Given the description of an element on the screen output the (x, y) to click on. 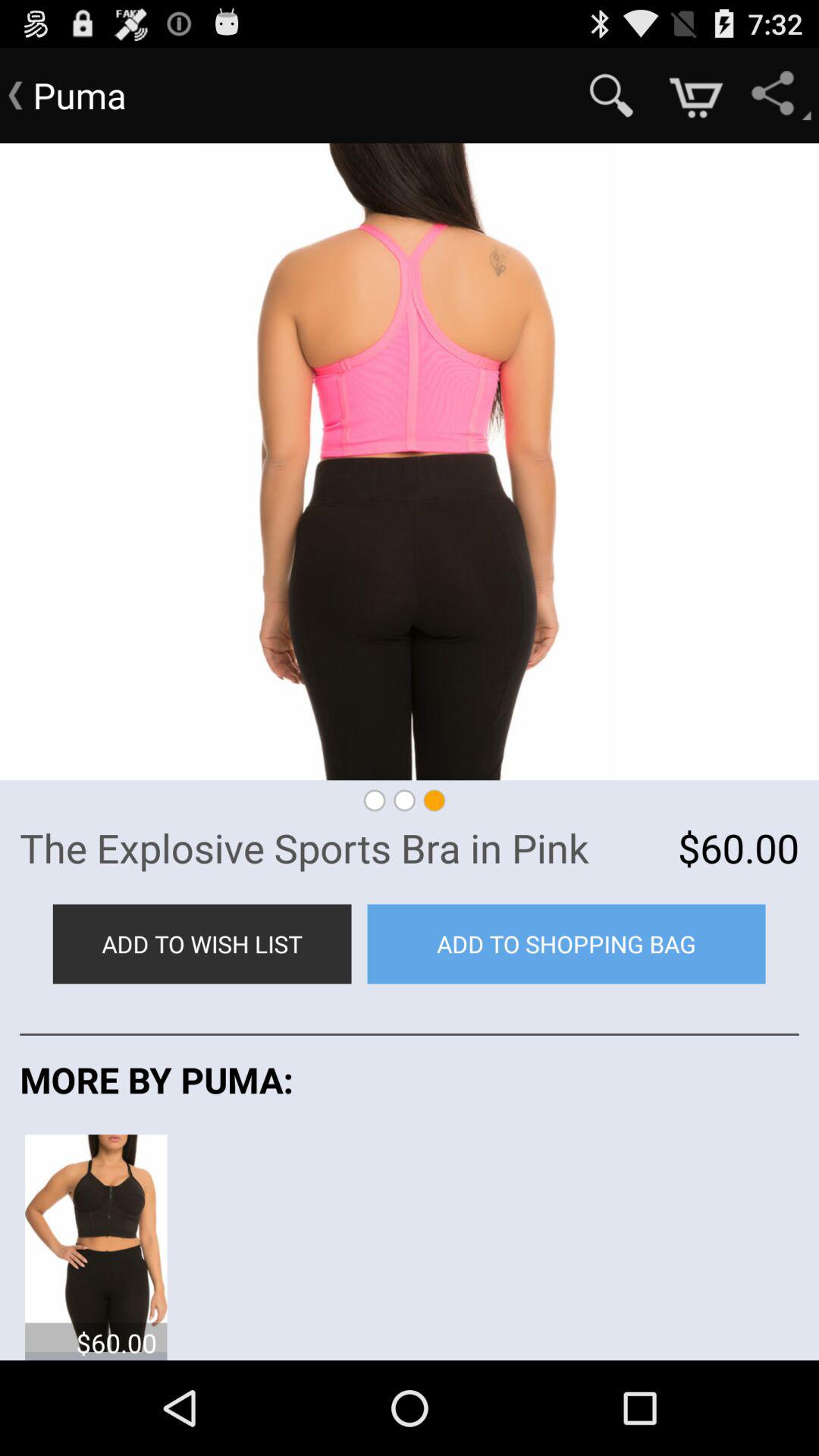
click app next to puma app (611, 95)
